Given the description of an element on the screen output the (x, y) to click on. 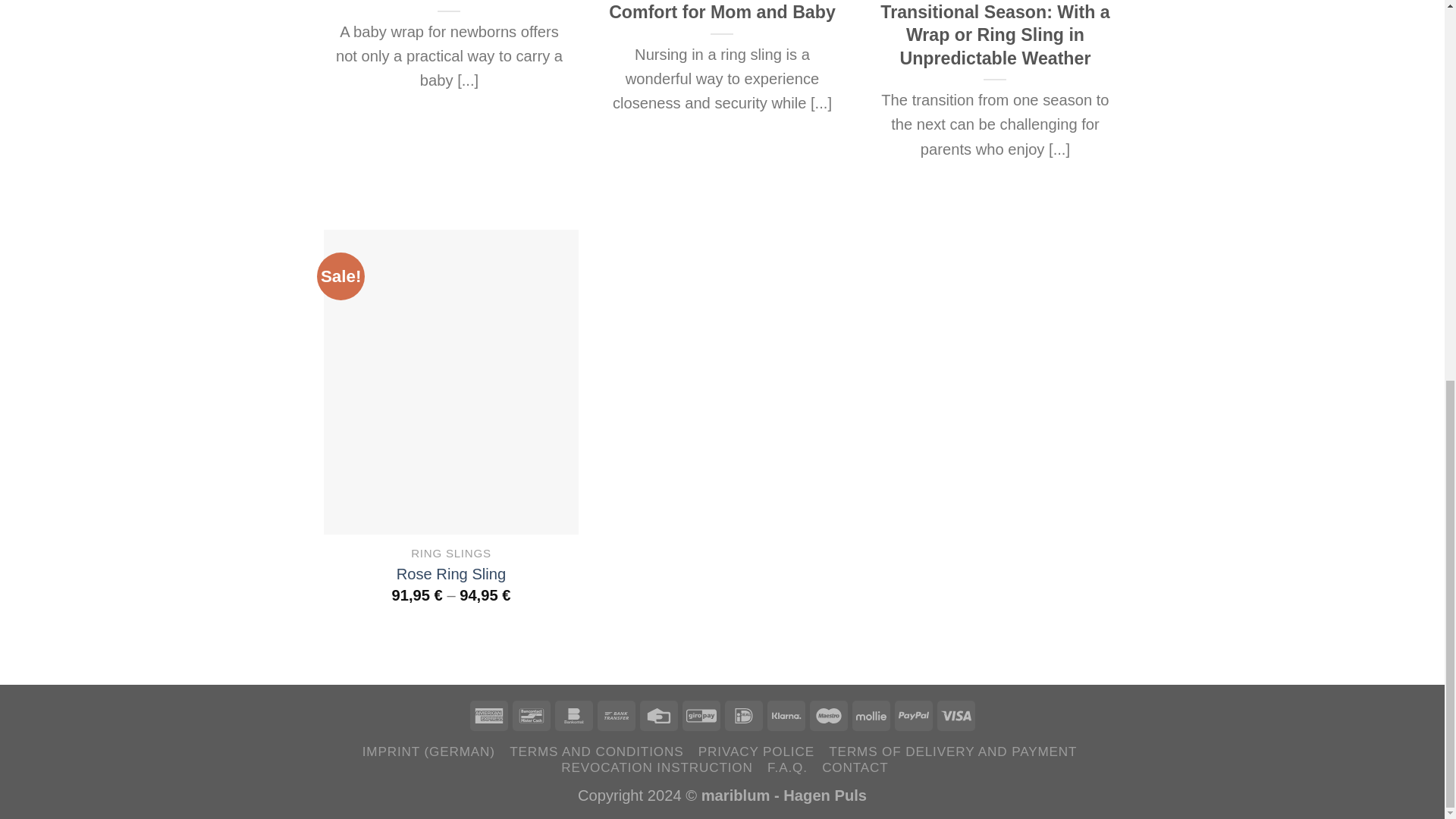
Nursing in a Ring Sling: Comfort for Mom and Baby (722, 11)
